Given the description of an element on the screen output the (x, y) to click on. 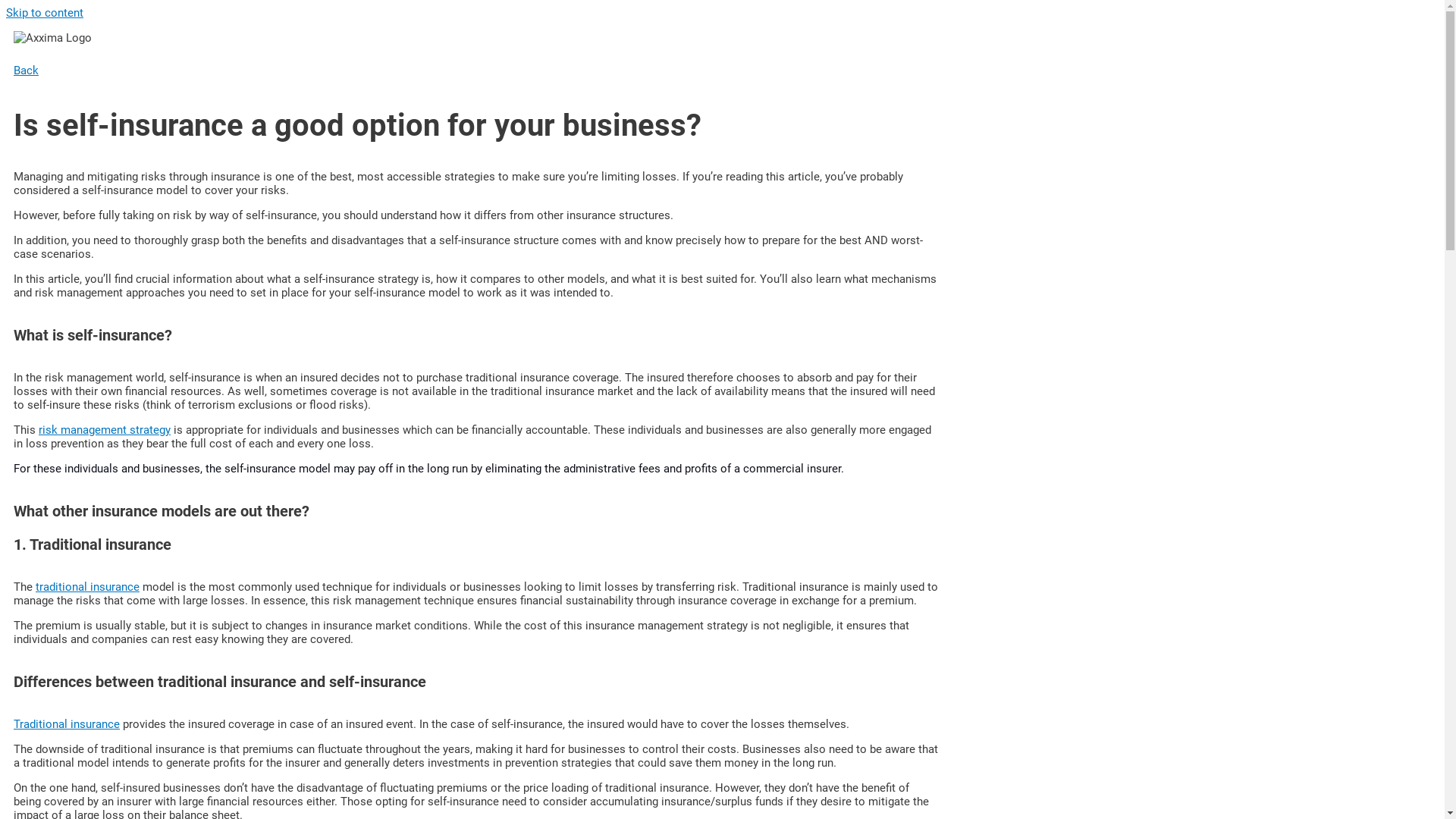
risk management strategy Element type: text (104, 429)
Back Element type: text (475, 70)
traditional insurance Element type: text (87, 586)
Traditional insurance Element type: text (66, 724)
Skip to content Element type: text (44, 12)
